Given the description of an element on the screen output the (x, y) to click on. 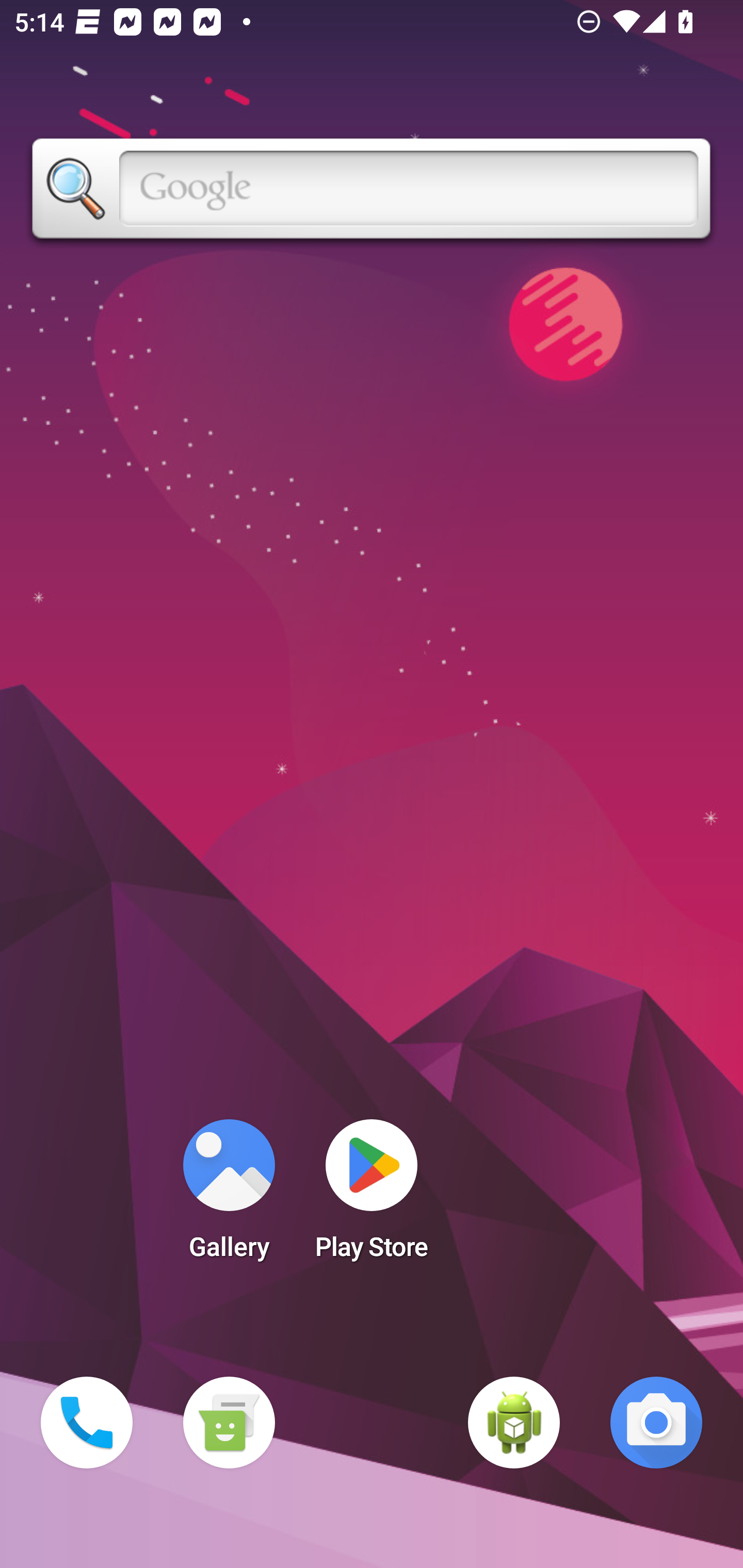
Gallery (228, 1195)
Play Store (371, 1195)
Phone (86, 1422)
Messaging (228, 1422)
WebView Browser Tester (513, 1422)
Camera (656, 1422)
